Given the description of an element on the screen output the (x, y) to click on. 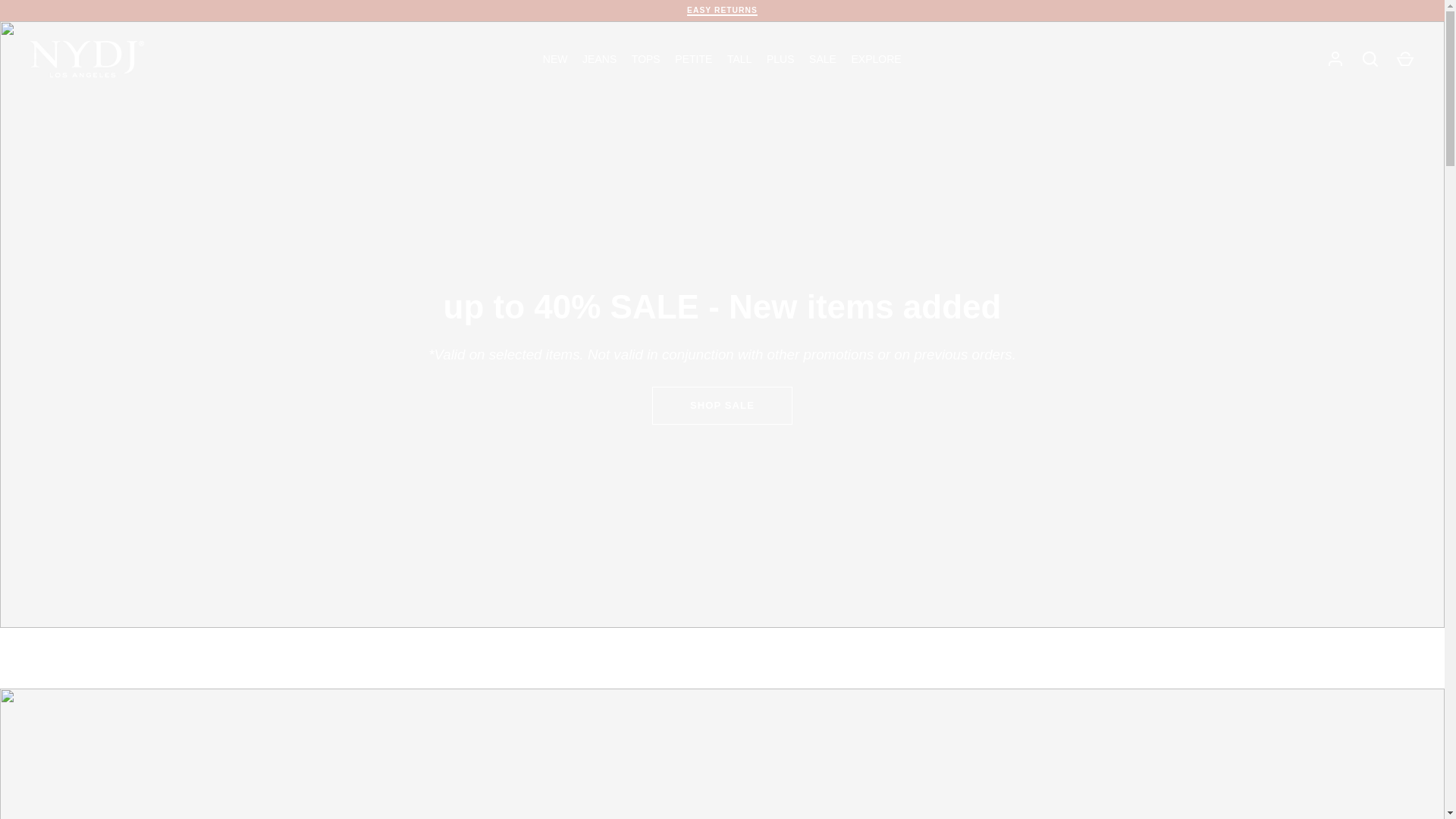
NEW (555, 58)
JEANS (599, 58)
